Given the description of an element on the screen output the (x, y) to click on. 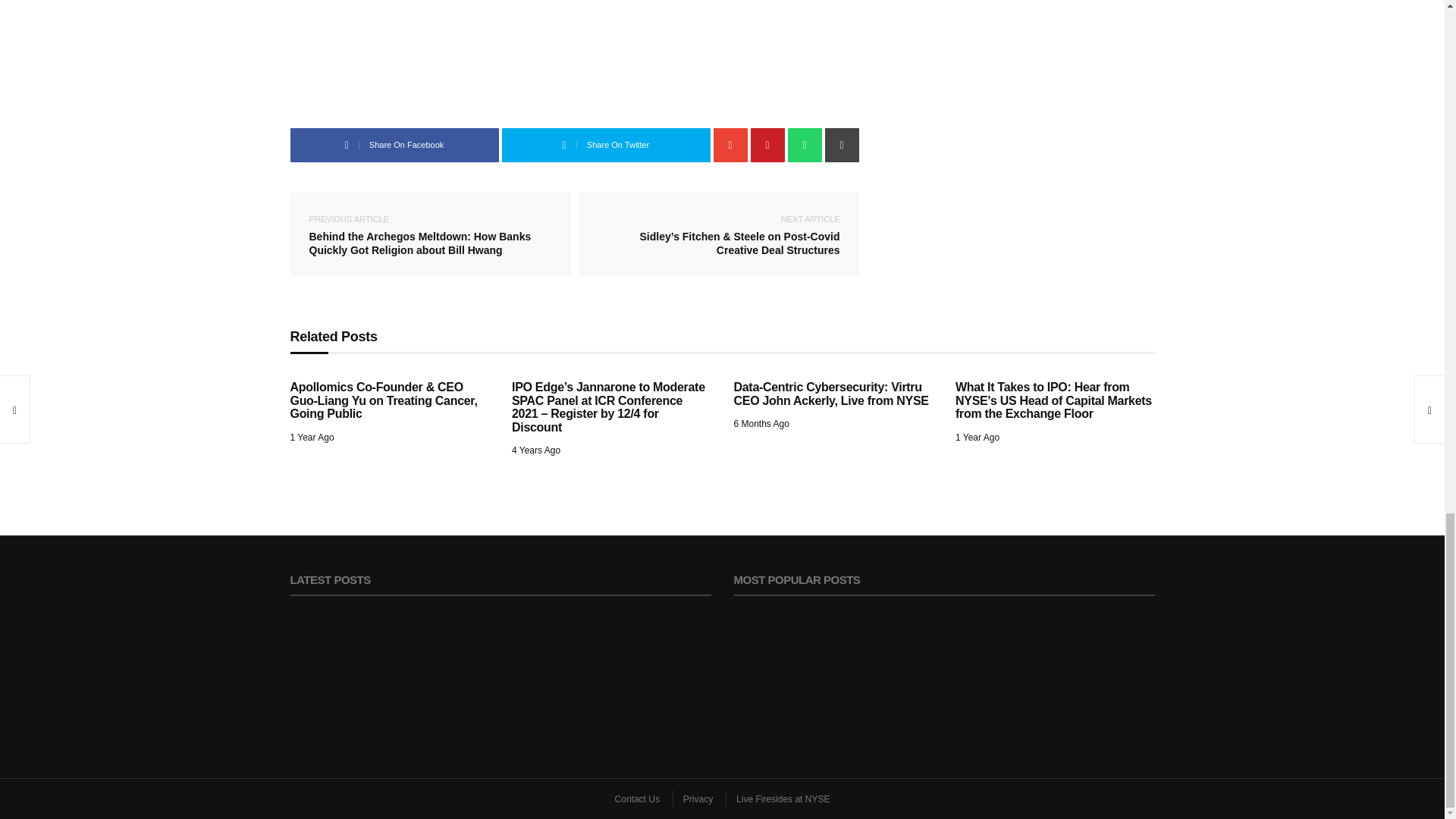
Share On Facebook (393, 144)
Share On Twitter (606, 144)
